Given the description of an element on the screen output the (x, y) to click on. 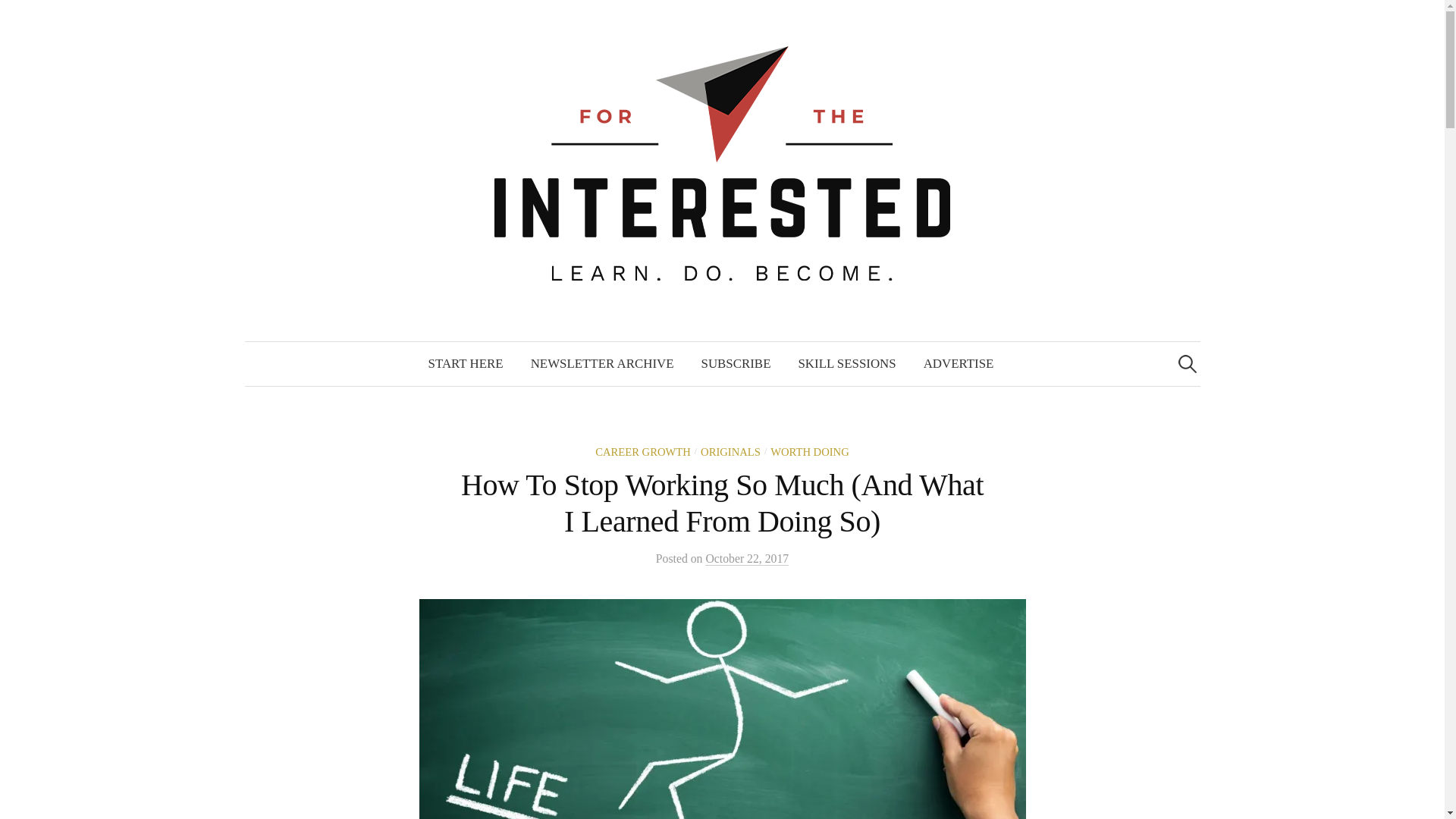
WORTH DOING (809, 451)
SUBSCRIBE (735, 363)
Search (18, 18)
START HERE (465, 363)
ADVERTISE (958, 363)
NEWSLETTER ARCHIVE (601, 363)
ORIGINALS (730, 451)
SKILL SESSIONS (846, 363)
October 22, 2017 (746, 558)
CAREER GROWTH (642, 451)
